Given the description of an element on the screen output the (x, y) to click on. 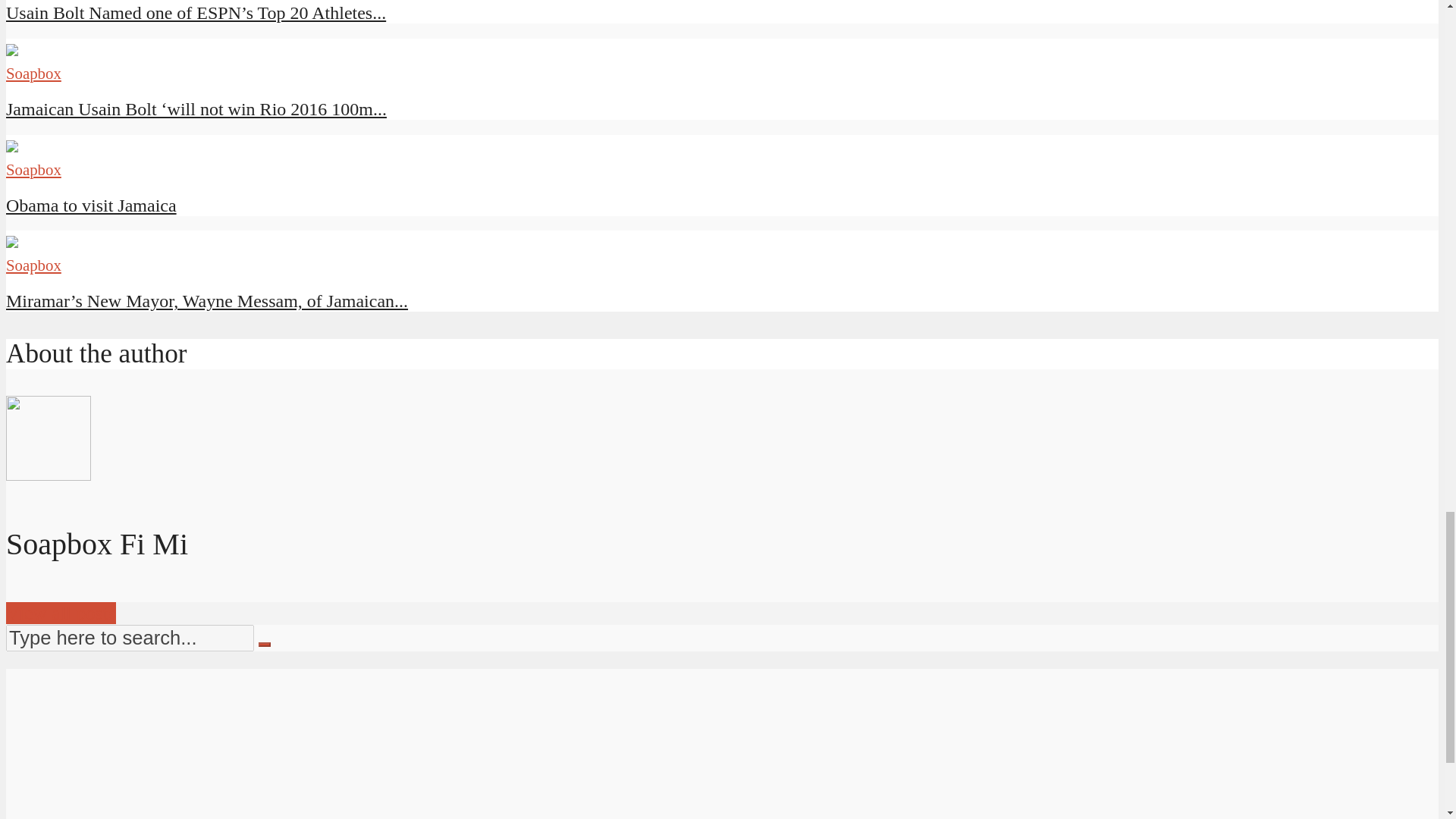
Type here to search... (129, 637)
Obama to visit Jamaica (90, 205)
Soapbox (33, 264)
View all posts (60, 612)
Soapbox (33, 72)
Obama to visit Jamaica (90, 205)
Type here to search... (129, 637)
Obama to visit Jamaica (11, 146)
Soapbox (33, 169)
